Given the description of an element on the screen output the (x, y) to click on. 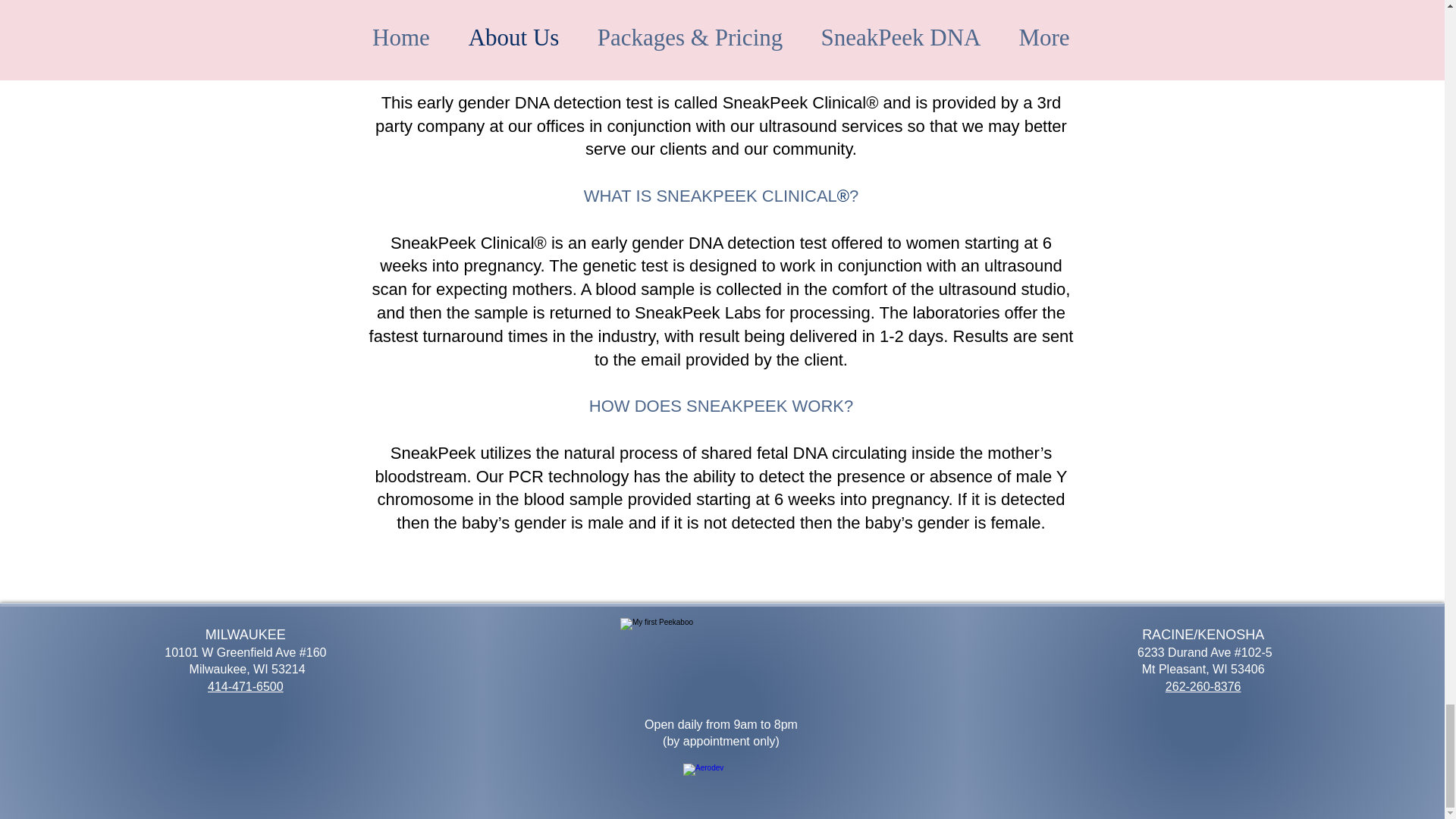
414-471-6500 (245, 686)
262-260-8376 (1203, 686)
